Given the description of an element on the screen output the (x, y) to click on. 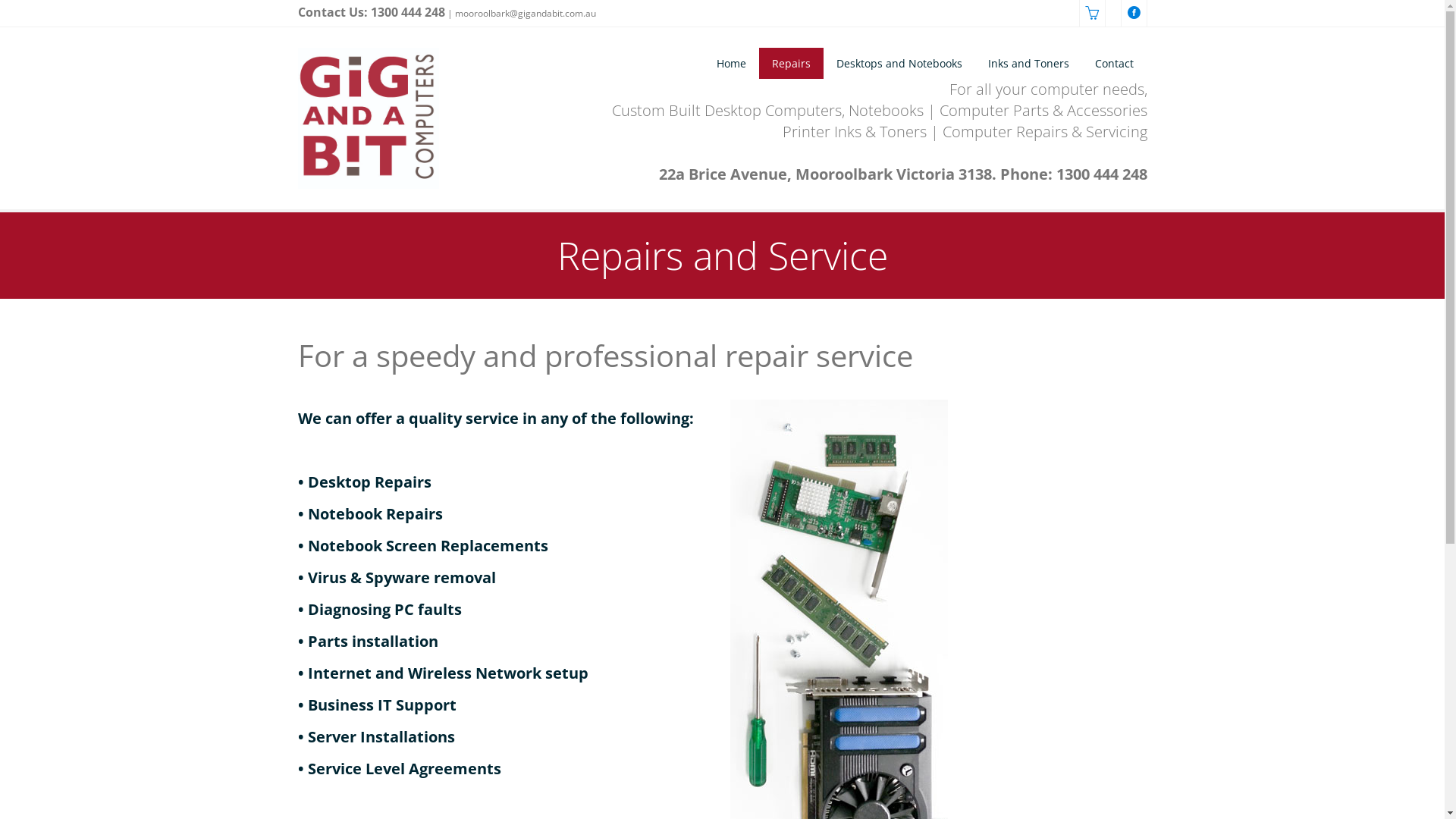
Desktops and Notebooks Element type: text (899, 62)
Inks and Toners Element type: text (1028, 62)
Home Element type: text (731, 62)
Contact Element type: text (1114, 62)
mooroolbark@gigandabit.com.au Element type: text (525, 12)
Repairs Element type: text (791, 62)
